Given the description of an element on the screen output the (x, y) to click on. 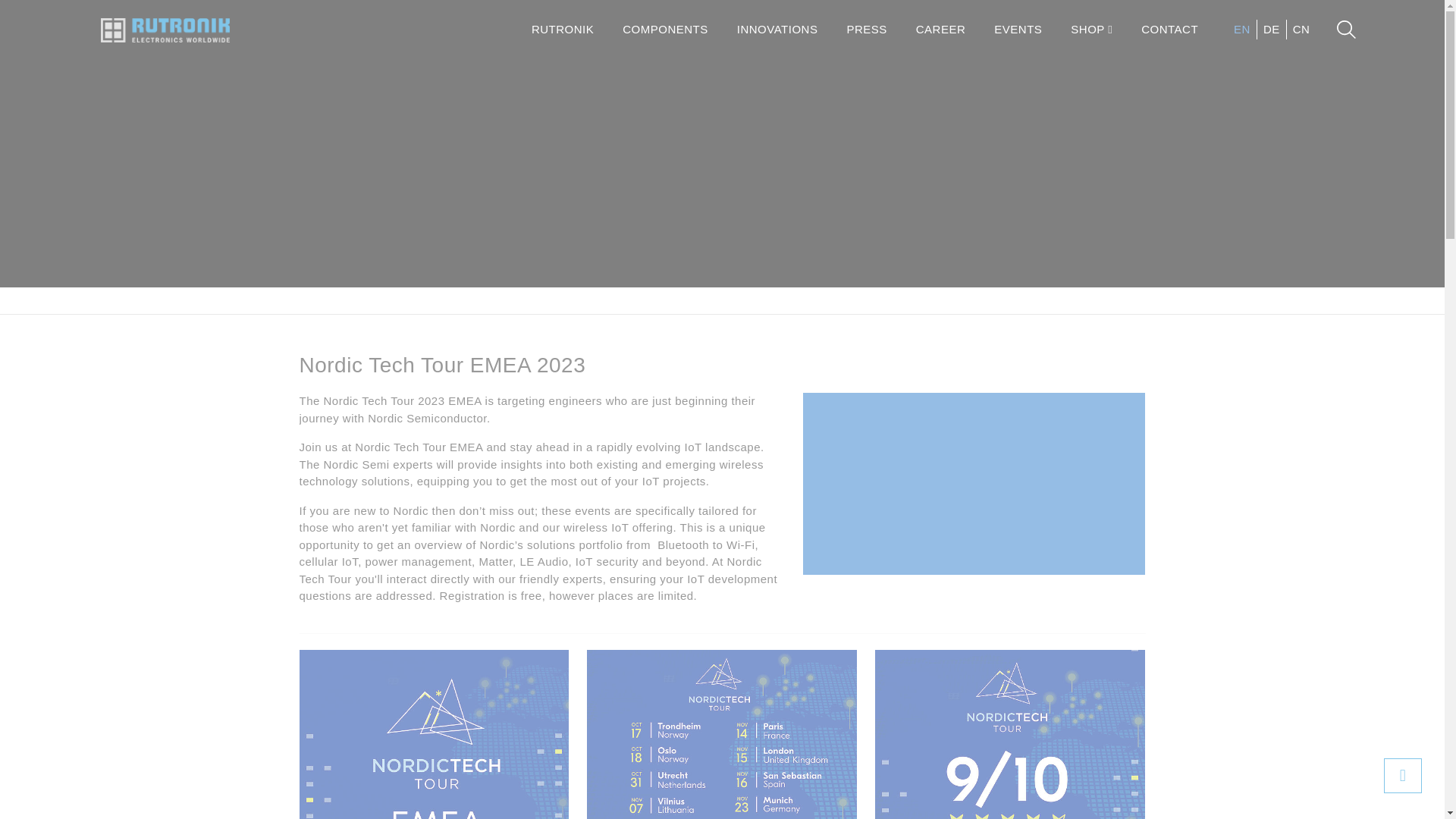
Recommendation EMEA (1009, 734)
EMEA Appointments (721, 734)
Components (380, 300)
RUTRONIK (562, 29)
logo (164, 30)
Supplier Pages (474, 300)
COMPONENTS (664, 29)
Banner EMEA 2023 (433, 734)
More about Nordic Semiconductor (974, 543)
Nordic Semiconductor (599, 300)
Distributor for electronic components (312, 300)
search page (1345, 29)
